Given the description of an element on the screen output the (x, y) to click on. 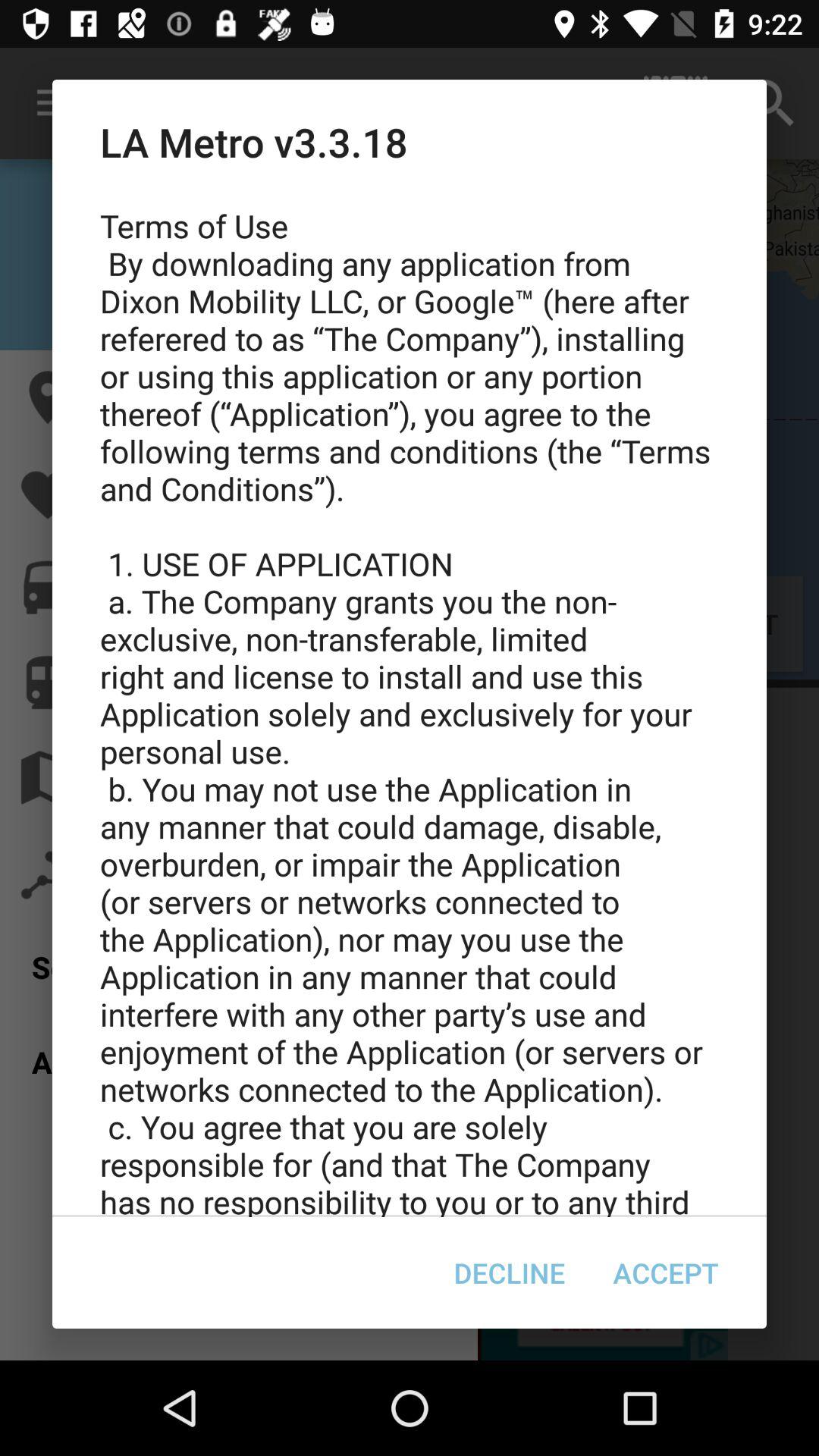
click item next to accept (509, 1272)
